Given the description of an element on the screen output the (x, y) to click on. 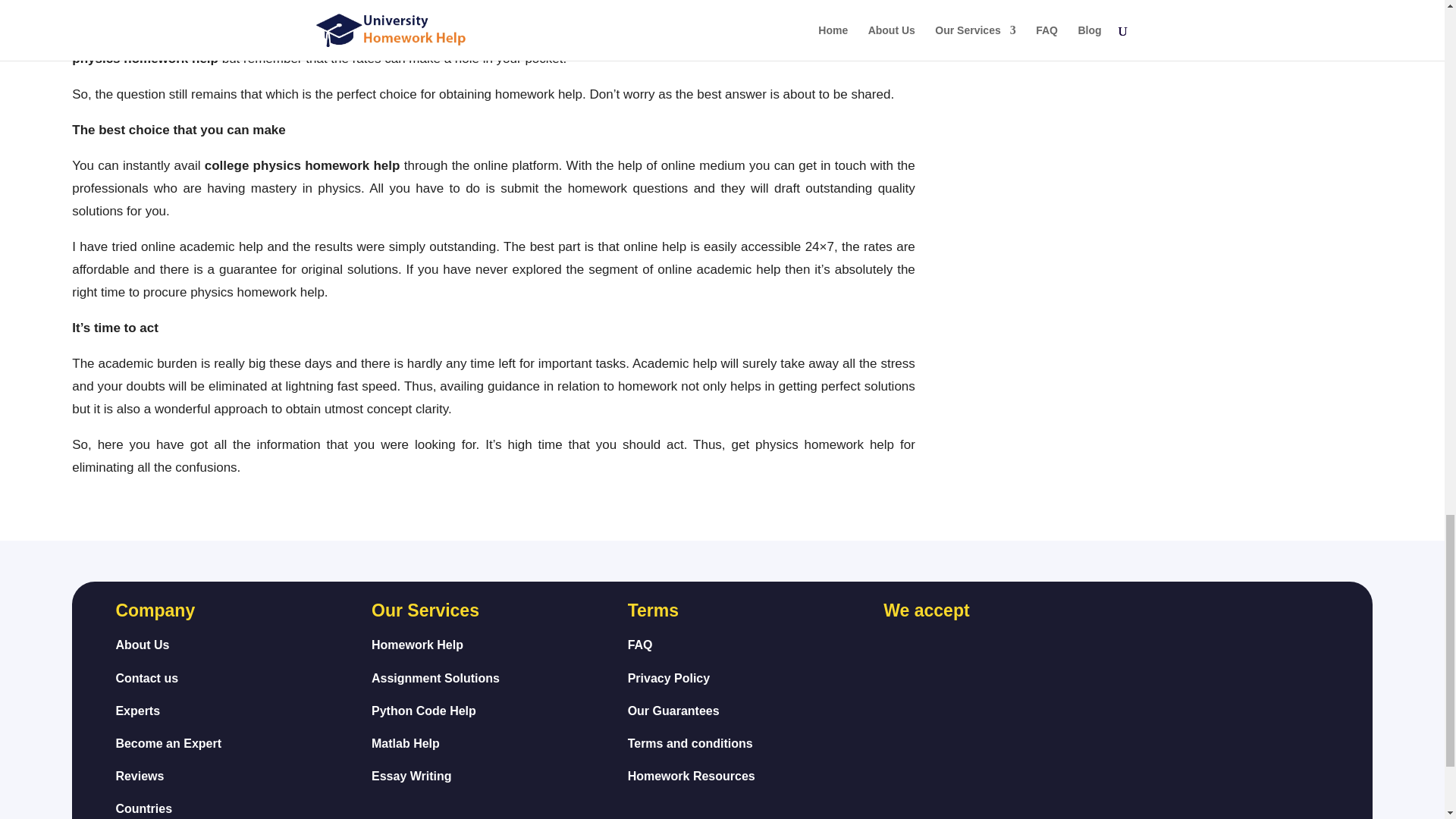
Countries (143, 808)
logo (1234, 622)
Privacy Policy (668, 677)
Matlab Help (405, 743)
Reviews (139, 775)
Countries (691, 775)
Essay Writing (411, 775)
Countries (137, 710)
dmca-badge-w150-5x1-09 (1196, 688)
Python Code Help (423, 710)
